Given the description of an element on the screen output the (x, y) to click on. 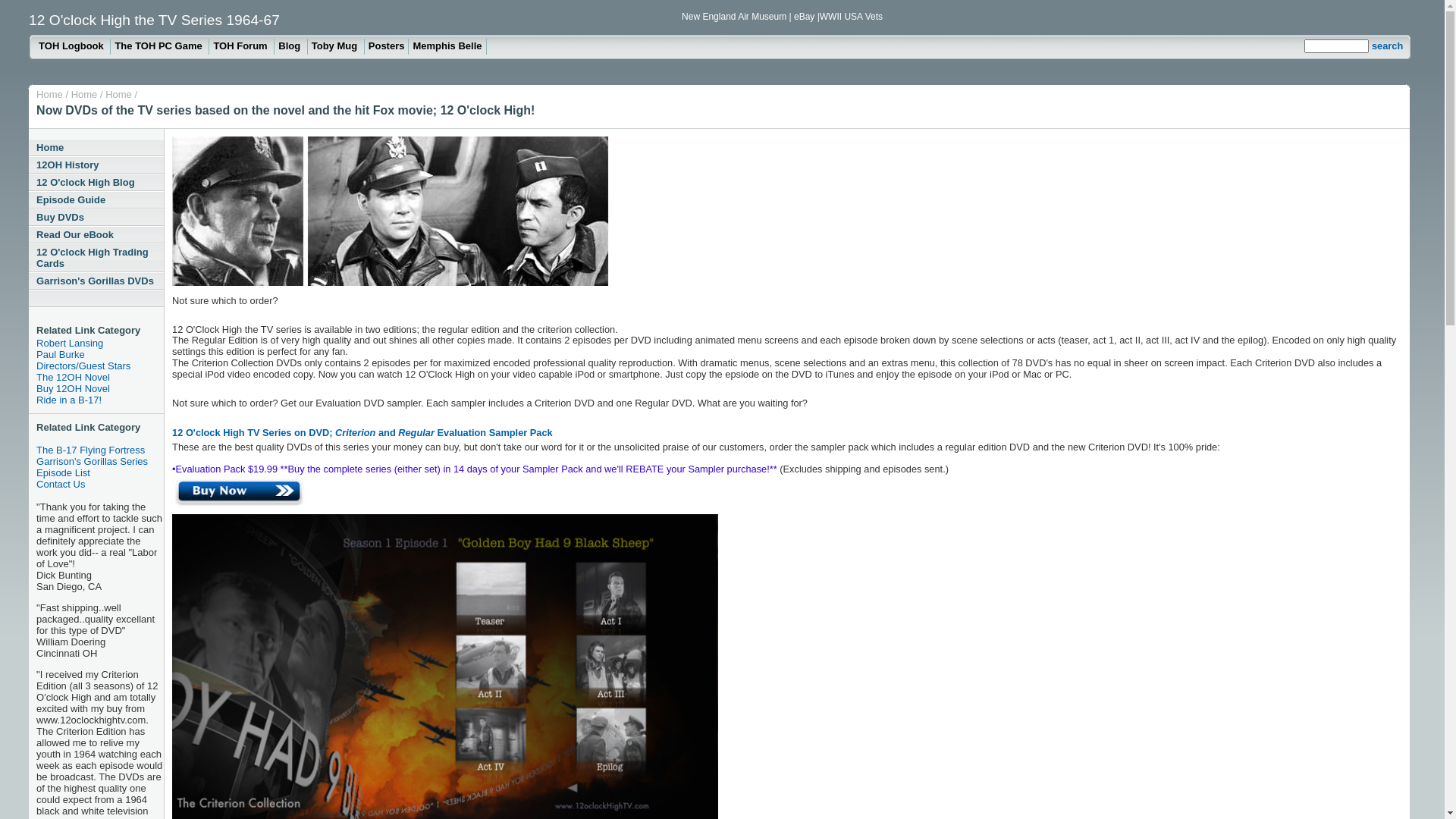
TOH Logbook Element type: text (72, 46)
search Element type: text (1386, 45)
Read Our eBook Element type: text (95, 234)
Home Element type: text (84, 94)
Home Element type: text (118, 94)
Home Element type: text (95, 147)
Posters Element type: text (386, 46)
Buy 12OH Novel Element type: text (99, 388)
New England Air Museum Element type: text (734, 16)
Contact Us Element type: text (99, 483)
Ride in a B-17! Element type: text (99, 399)
The TOH PC Game Element type: text (159, 46)
|WWII USA Vets Element type: text (849, 16)
The B-17 Flying Fortress Element type: text (99, 449)
Toby Mug Element type: text (335, 46)
12 O'clock High Blog Element type: text (95, 182)
Episode Guide Element type: text (95, 199)
Garrison's Gorillas DVDs Element type: text (95, 280)
Memphis Belle Element type: text (447, 46)
Blog Element type: text (290, 46)
Robert Lansing Element type: text (99, 342)
eBay Element type: text (803, 16)
Paul Burke Element type: text (99, 354)
Garrison's Gorillas Series Element type: text (99, 461)
Buy DVDs Element type: text (95, 216)
Directors/Guest Stars Element type: text (99, 365)
12OH History Element type: text (95, 164)
TOH Forum Element type: text (241, 46)
Episode List Element type: text (99, 472)
The 12OH Novel Element type: text (99, 376)
Home Element type: text (49, 94)
12 O'clock High Trading Cards Element type: text (95, 257)
